Given the description of an element on the screen output the (x, y) to click on. 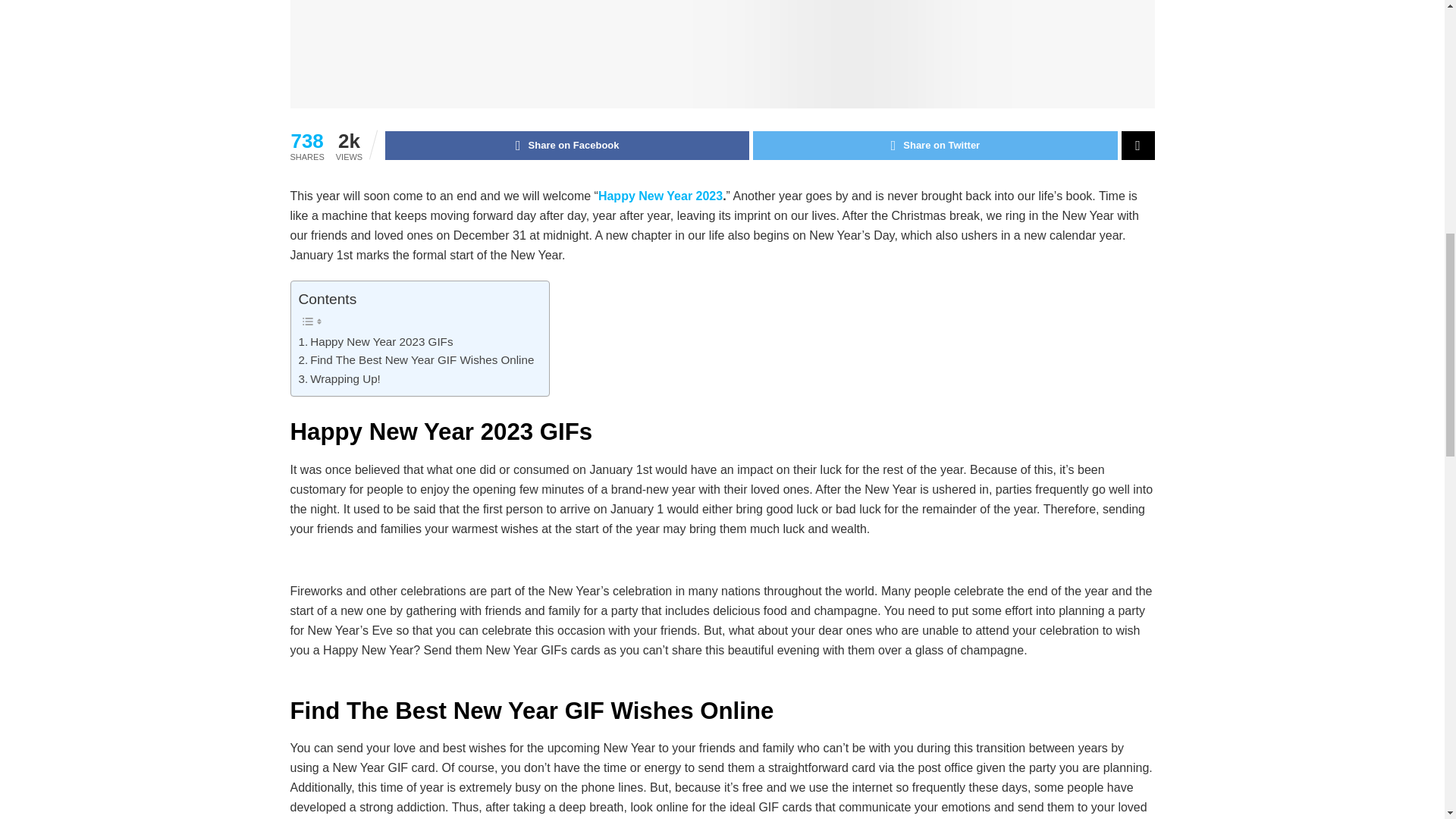
Happy New Year 2023 (660, 195)
Share on Facebook (567, 145)
Happy New Year 2023 GIFs (375, 341)
Wrapping Up! (339, 379)
Find The Best New Year GIF Wishes Online (416, 360)
Find The Best New Year GIF Wishes Online (416, 360)
Happy New Year 2023 GIFs (375, 341)
Wrapping Up! (339, 379)
Share on Twitter (934, 145)
